Given the description of an element on the screen output the (x, y) to click on. 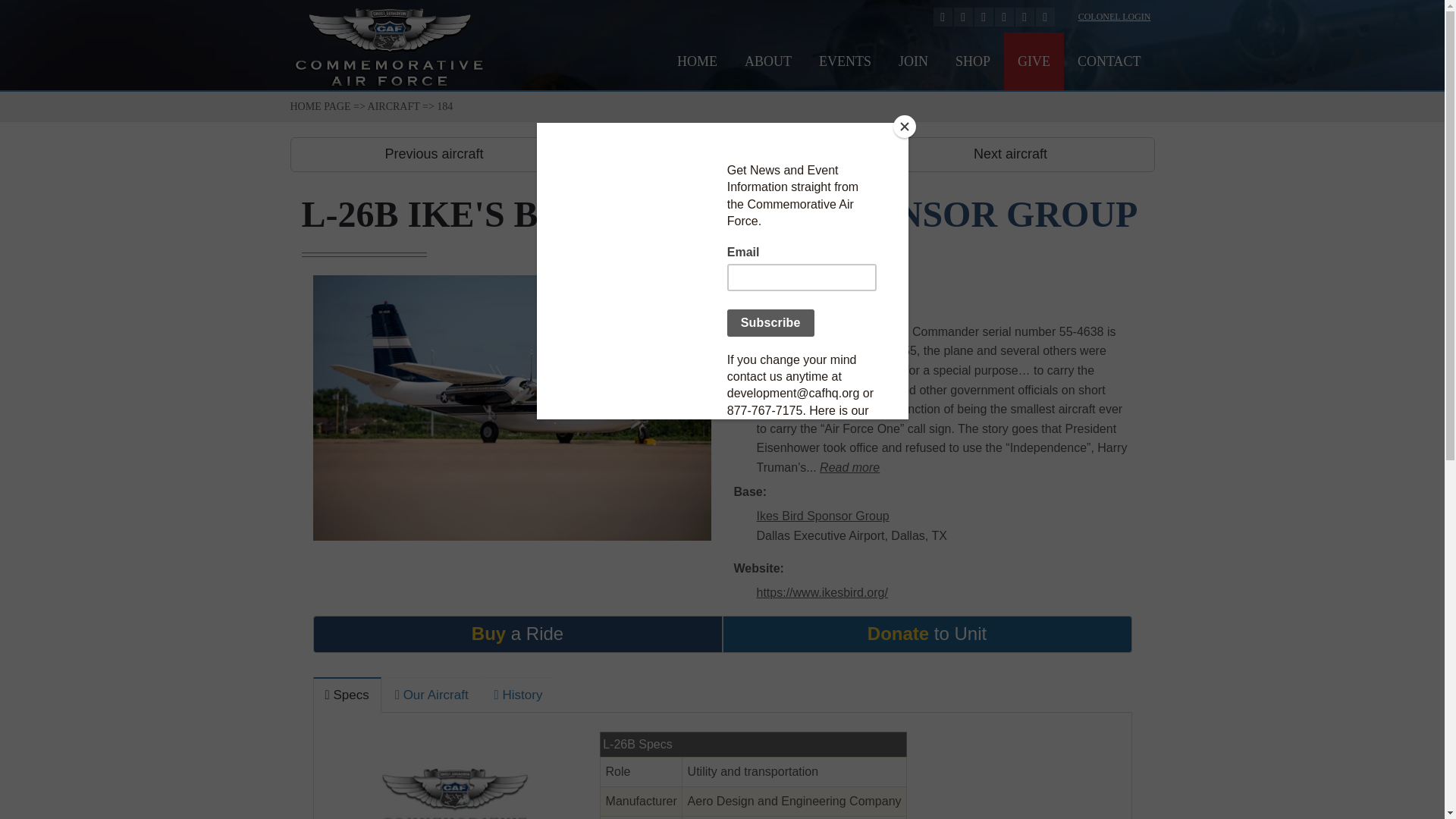
SHOP (973, 61)
EVENTS (845, 61)
Previous aircraft (433, 154)
HOME (696, 61)
JOIN (913, 61)
COLONEL LOGIN (1114, 16)
GIVE (1034, 61)
Back to all aircraft (722, 154)
ABOUT (767, 61)
Next aircraft (1010, 154)
